Given the description of an element on the screen output the (x, y) to click on. 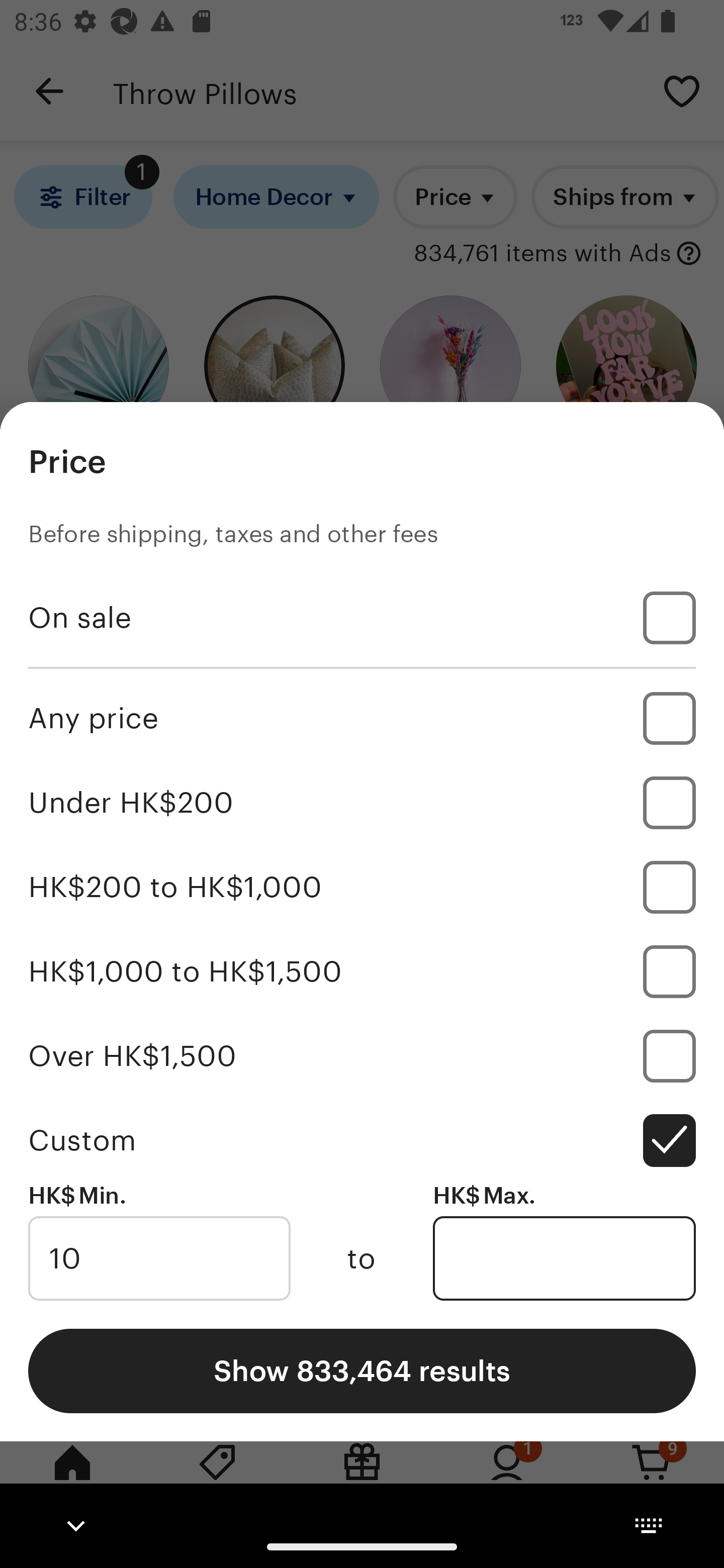
On sale (362, 617)
Any price (362, 717)
Under HK$200 (362, 802)
HK$200 to HK$1,000 (362, 887)
HK$1,000 to HK$1,500 (362, 970)
Over HK$1,500 (362, 1054)
Custom (362, 1139)
10 (159, 1257)
Show 833,464 results (361, 1370)
